Given the description of an element on the screen output the (x, y) to click on. 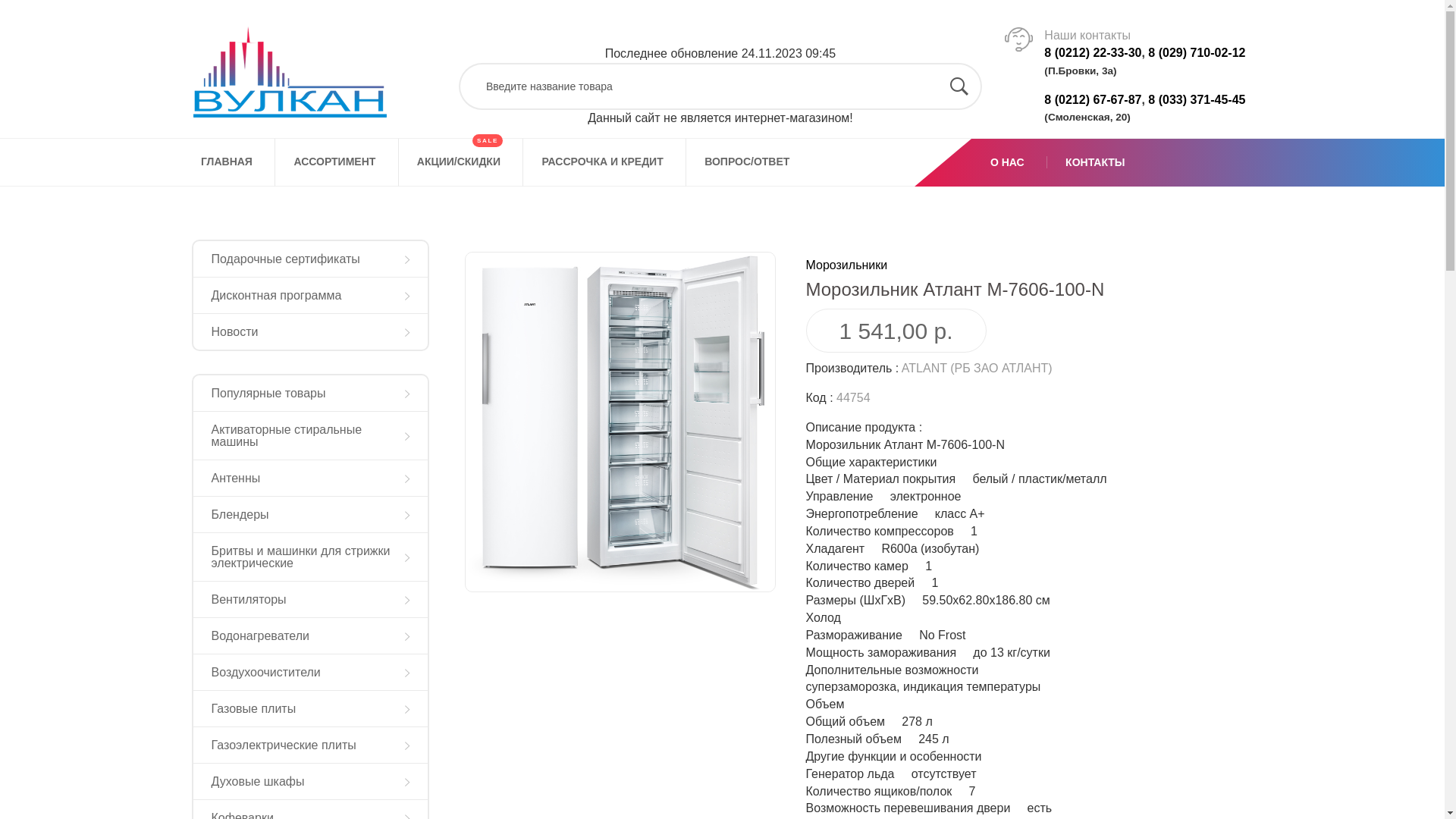
8 (0212) 67-67-87 Element type: text (1092, 99)
8 (029) 710-02-12 Element type: text (1196, 52)
8 (033) 371-45-45 Element type: text (1196, 99)
8 (0212) 22-33-30 Element type: text (1092, 52)
